Given the description of an element on the screen output the (x, y) to click on. 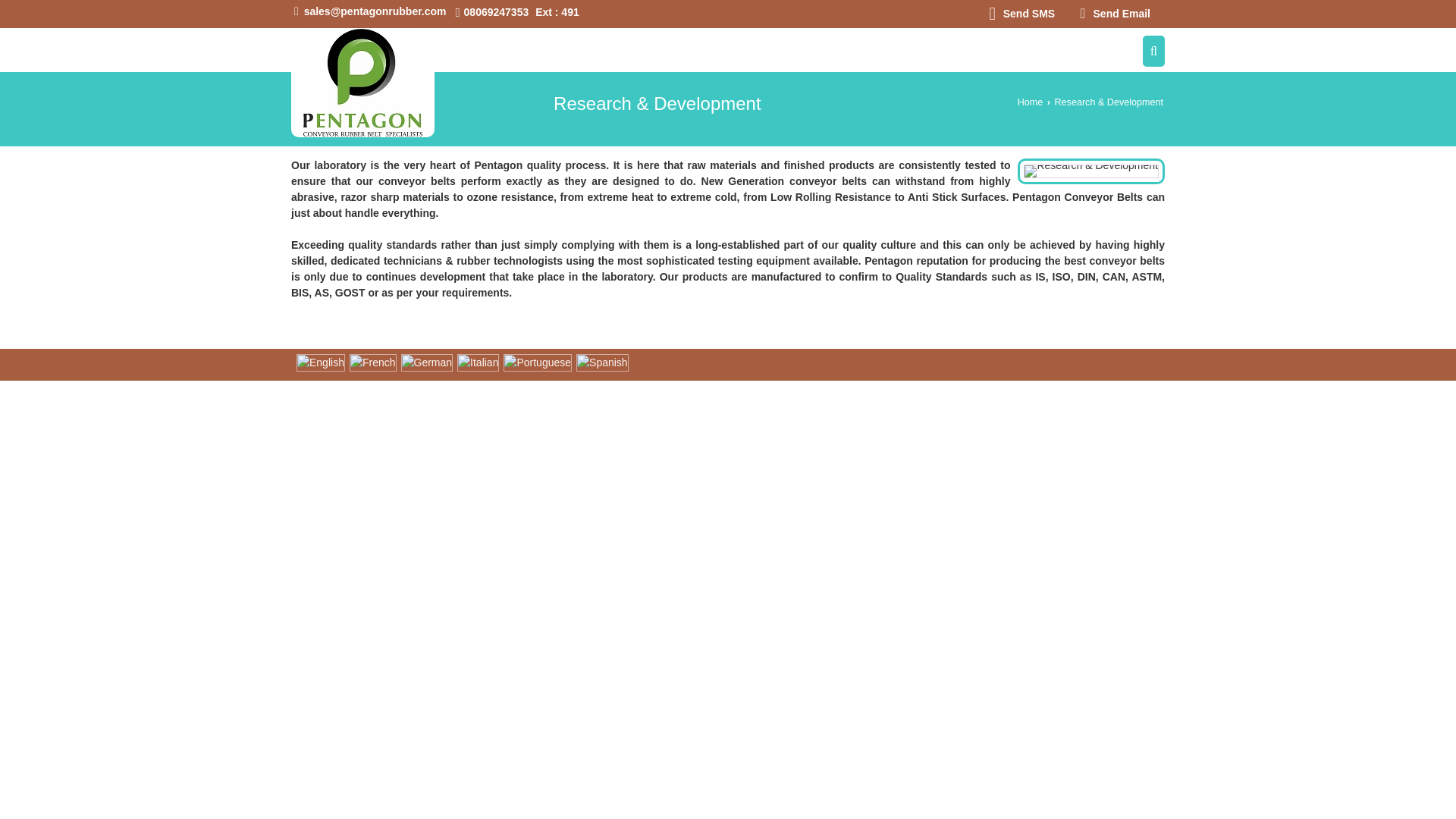
Send SMS (1020, 14)
PENTAGON RUBBER LIMITED (362, 82)
Send Email (1114, 14)
Home (1030, 102)
